Given the description of an element on the screen output the (x, y) to click on. 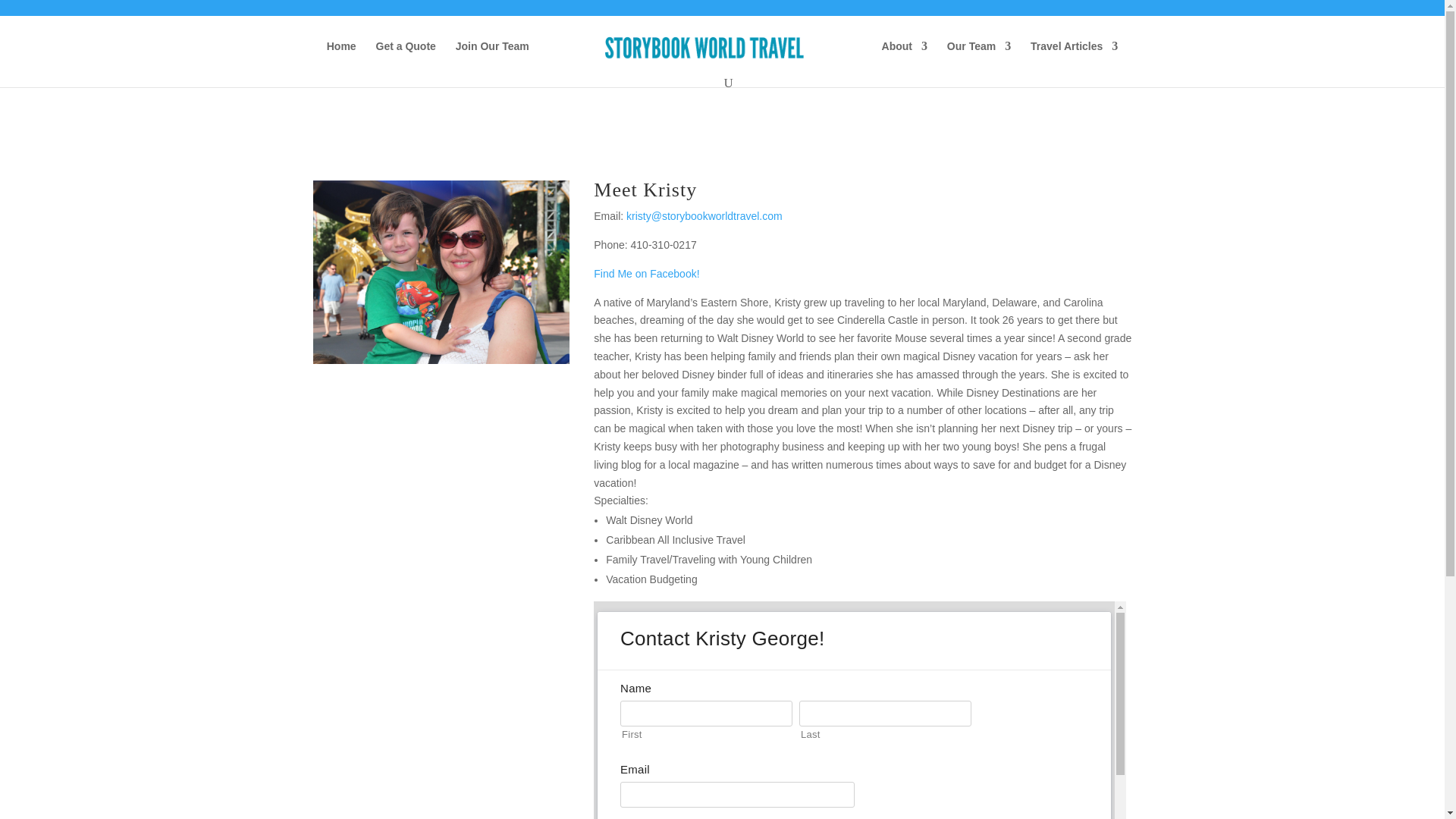
Travel Articles (1074, 58)
Get a Quote (405, 58)
About (904, 58)
Our Team (978, 58)
Join Our Team (492, 58)
